Given the description of an element on the screen output the (x, y) to click on. 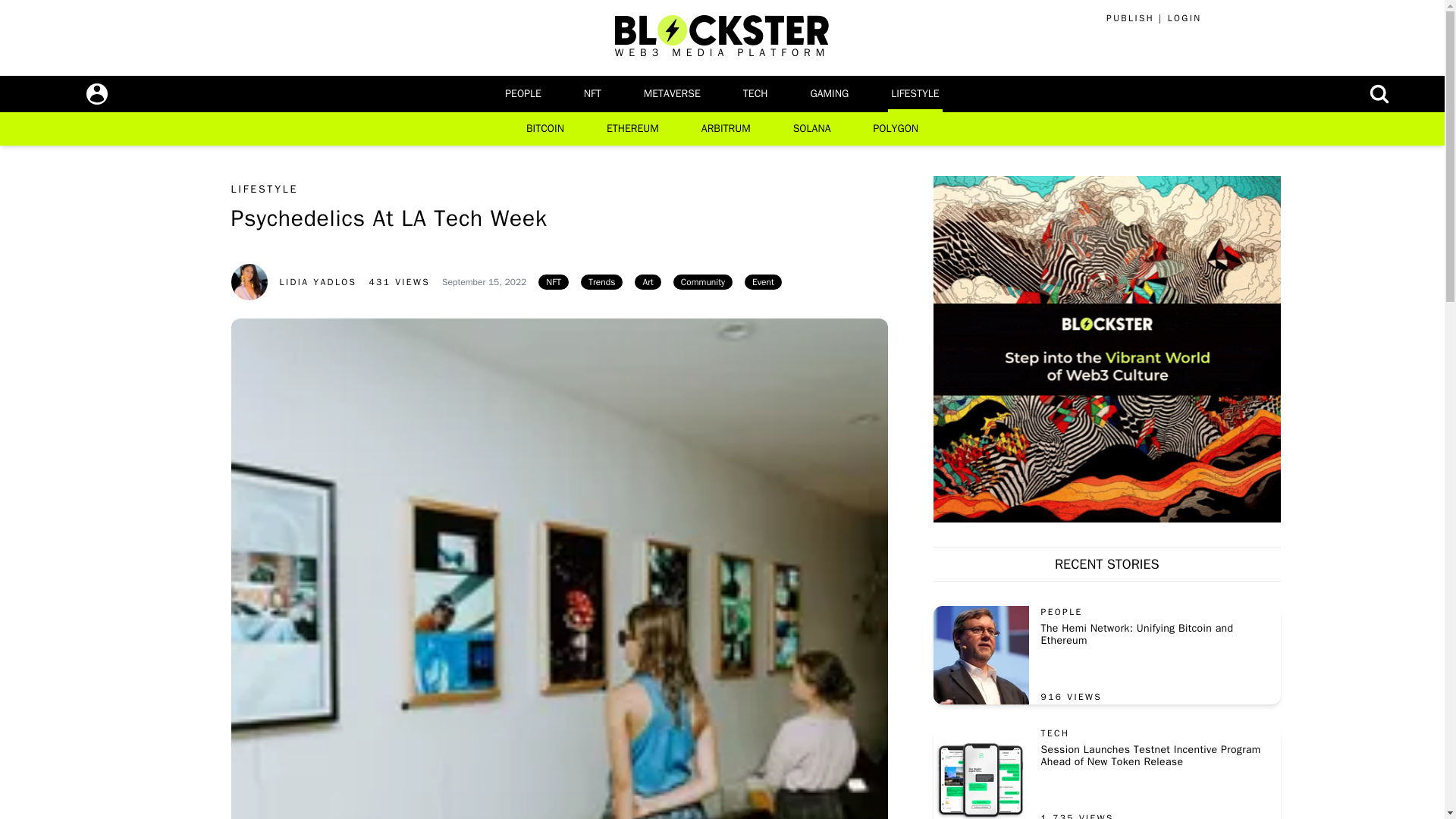
Community (702, 281)
BITCOIN (544, 128)
NFT (553, 281)
ARBITRUM (726, 128)
SOLANA (812, 128)
NFT (592, 94)
LIFESTYLE (915, 94)
Trends (601, 281)
Event (762, 281)
LOGIN (1184, 18)
PUBLISH (1130, 18)
TECH (755, 94)
ETHEREUM (633, 128)
LIDIA YADLOS (293, 272)
